Given the description of an element on the screen output the (x, y) to click on. 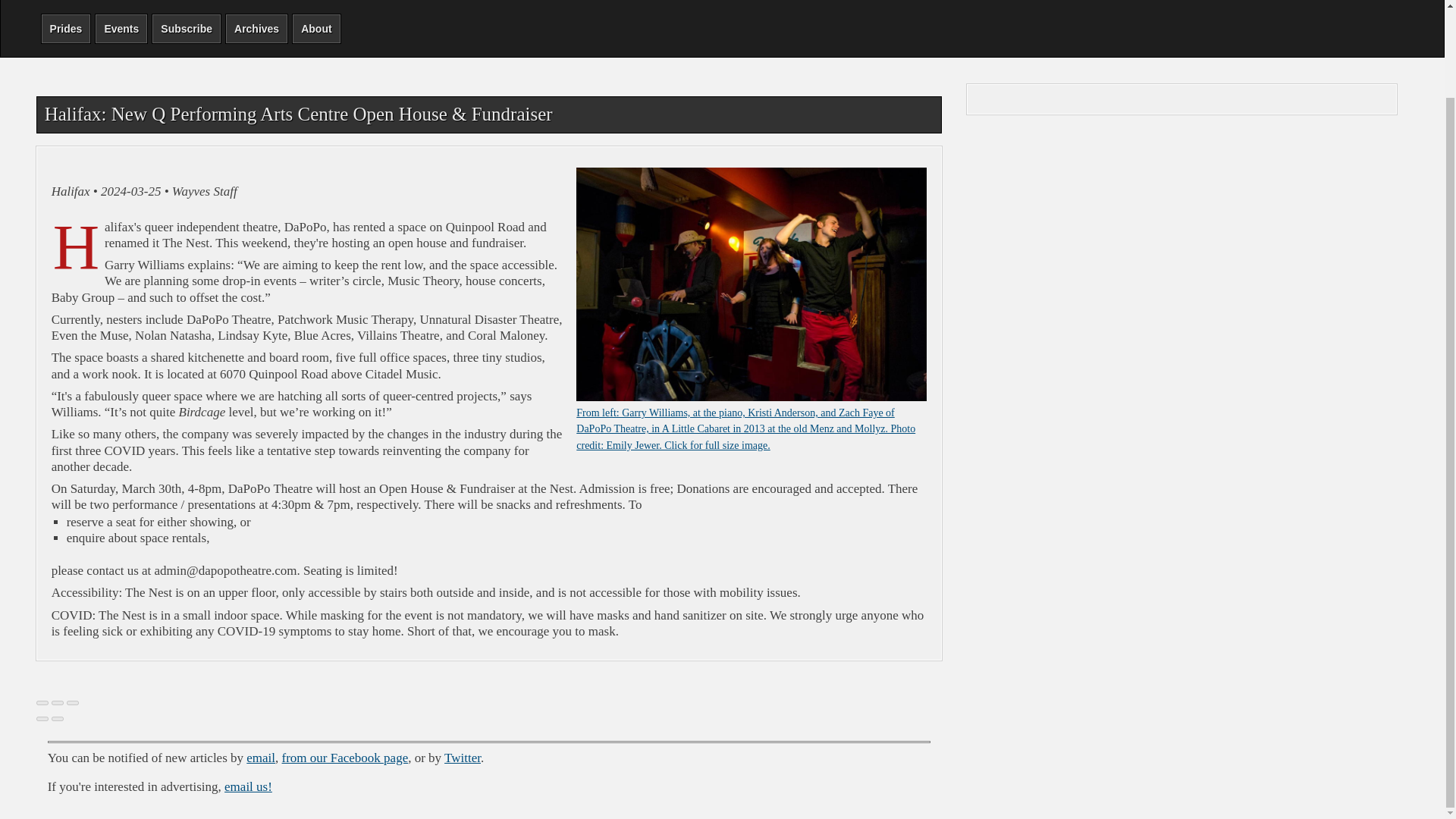
Archives (256, 28)
email us! (248, 786)
email (260, 757)
About (316, 28)
Be notified of new articles (186, 28)
from our Facebook page (345, 757)
Prides (65, 28)
Events (121, 28)
Subscribe (186, 28)
Twitter (462, 757)
Toggle fullscreen (57, 703)
